Given the description of an element on the screen output the (x, y) to click on. 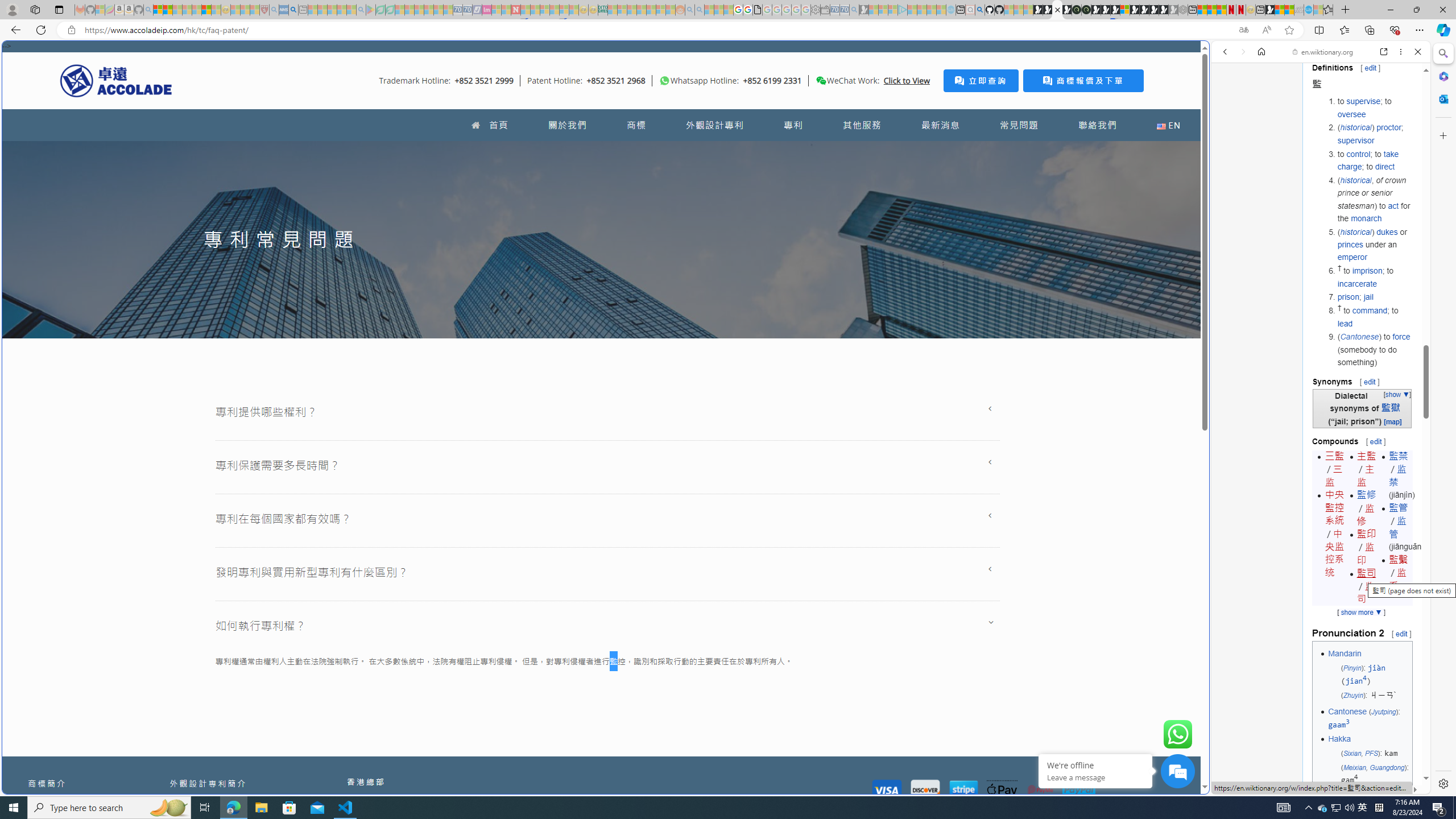
Search (1442, 53)
This site scope (1259, 102)
Eastern Min (1349, 796)
Microsoft-Report a Concern to Bing - Sleeping (99, 9)
